Given the description of an element on the screen output the (x, y) to click on. 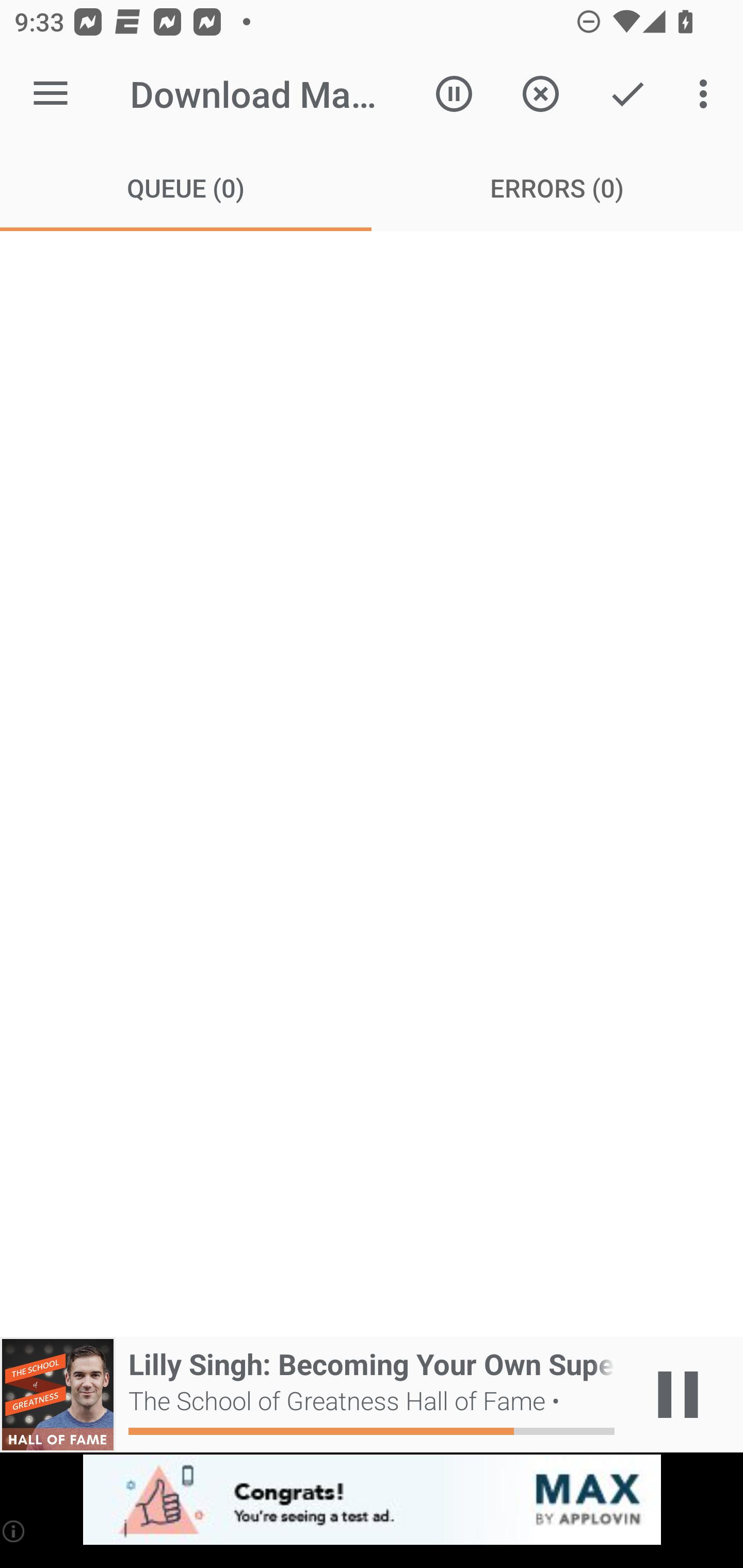
Open navigation sidebar (50, 93)
Pause downloads... (453, 93)
Cancel Downloads (540, 93)
Action Mode (626, 93)
More options (706, 93)
Errors (0) ERRORS (0) (557, 187)
Play / Pause (677, 1394)
app-monetization (371, 1500)
(i) (14, 1531)
